Given the description of an element on the screen output the (x, y) to click on. 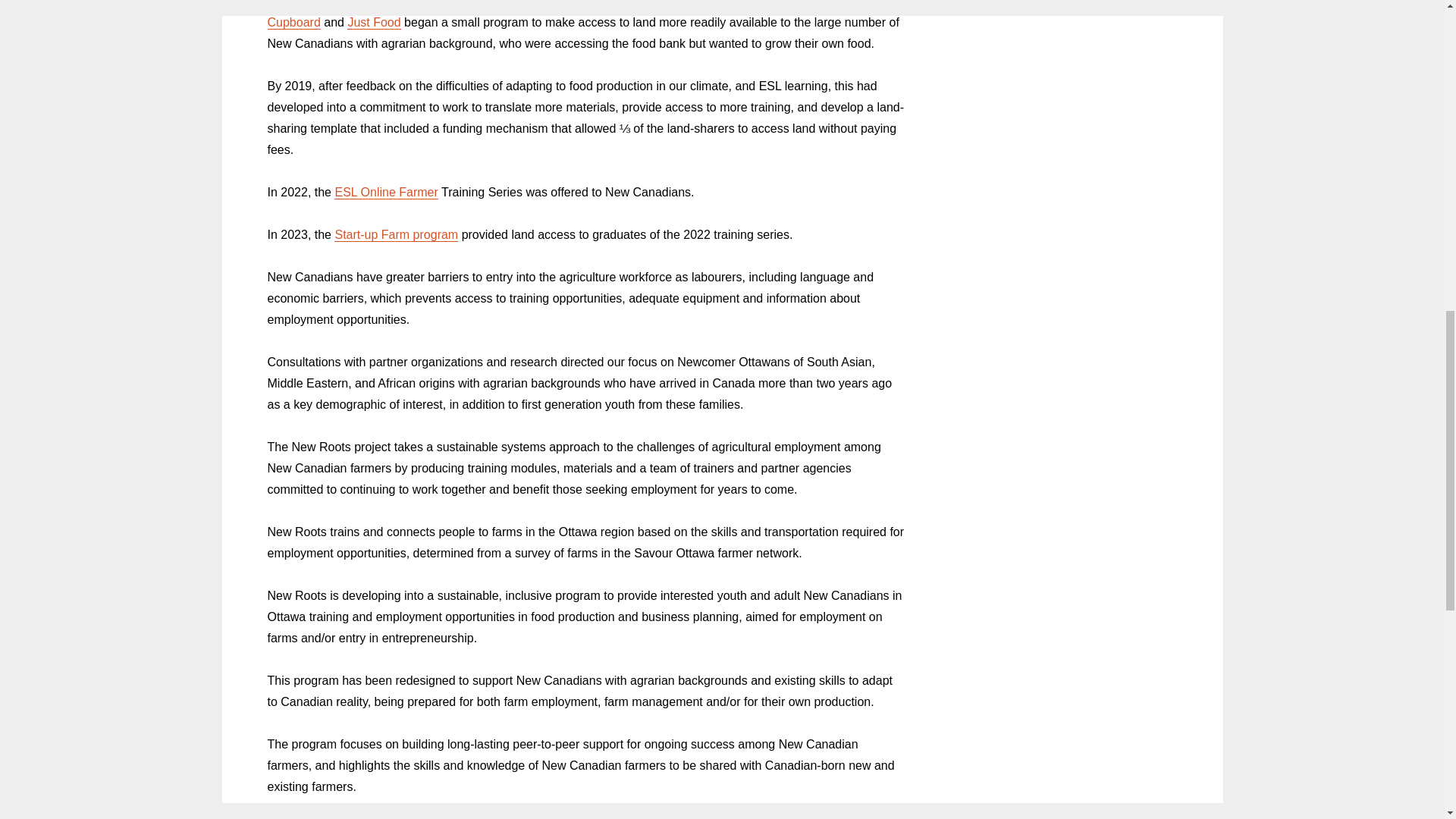
Gloucester Emergency Food Cupboard (573, 14)
Just Food (373, 21)
ESL Online Farmer (386, 192)
Start-up Farm program (396, 234)
